Given the description of an element on the screen output the (x, y) to click on. 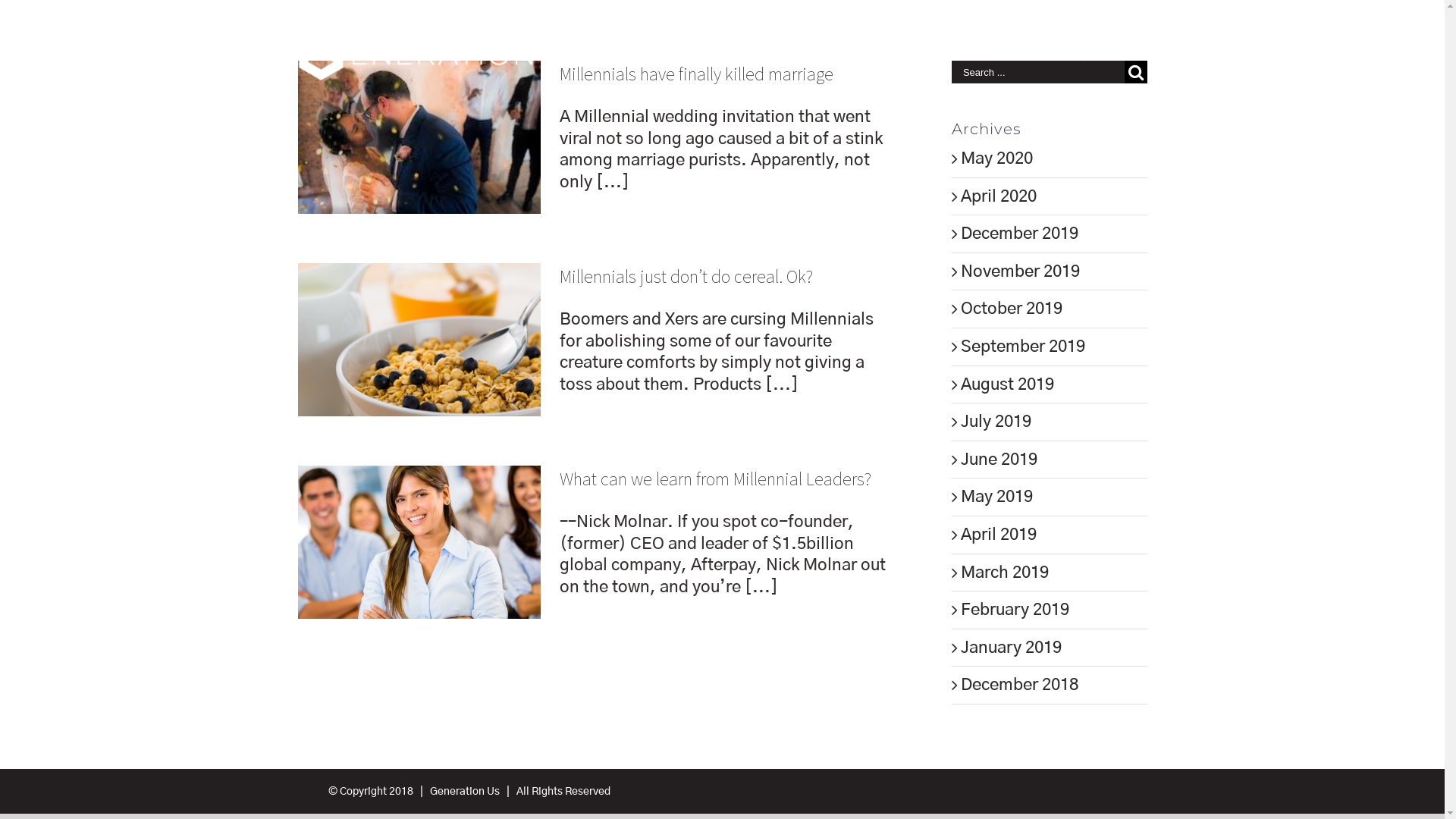
What can we learn from Millennial Leaders? Element type: text (715, 478)
GET IN TOUCH Element type: text (1067, 54)
August 2019 Element type: text (1007, 384)
December 2019 Element type: text (1019, 233)
September 2019 Element type: text (1022, 346)
CONTENT Element type: text (949, 54)
July 2019 Element type: text (995, 421)
May 2020 Element type: text (996, 158)
January 2019 Element type: text (1010, 647)
February 2019 Element type: text (1014, 609)
December 2018 Element type: text (1019, 684)
Millennials have finally killed marriage Element type: text (696, 73)
Generation Us Element type: text (464, 791)
April 2019 Element type: text (998, 534)
PODCAST Element type: text (851, 54)
March 2019 Element type: text (1004, 572)
May 2019 Element type: text (996, 496)
April 2020 Element type: text (998, 196)
June 2019 Element type: text (998, 459)
November 2019 Element type: text (1019, 271)
ABOUT Element type: text (761, 54)
October 2019 Element type: text (1011, 308)
